Given the description of an element on the screen output the (x, y) to click on. 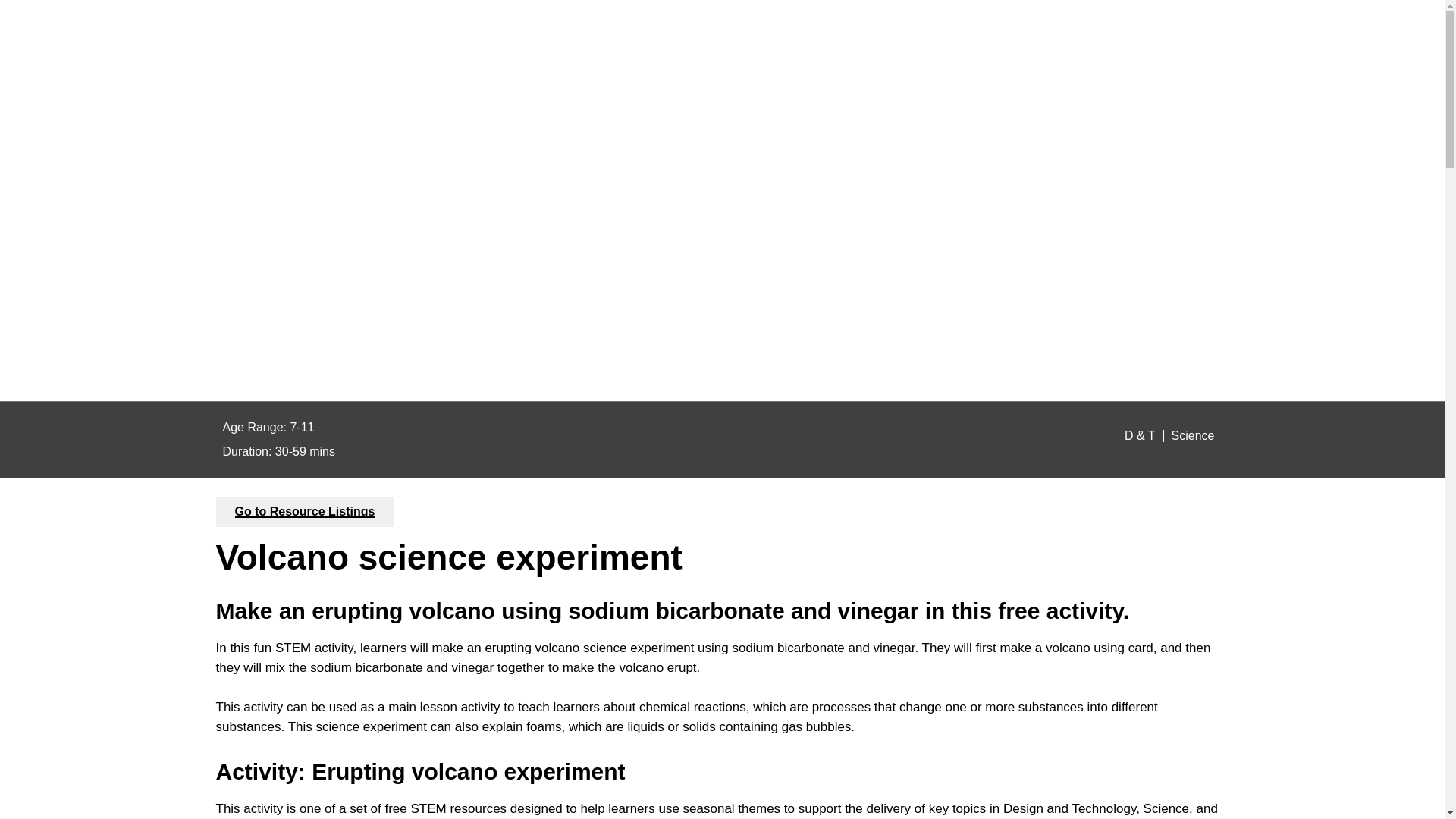
Start of main content (60, 193)
Go to Resource Listings (304, 511)
